Given the description of an element on the screen output the (x, y) to click on. 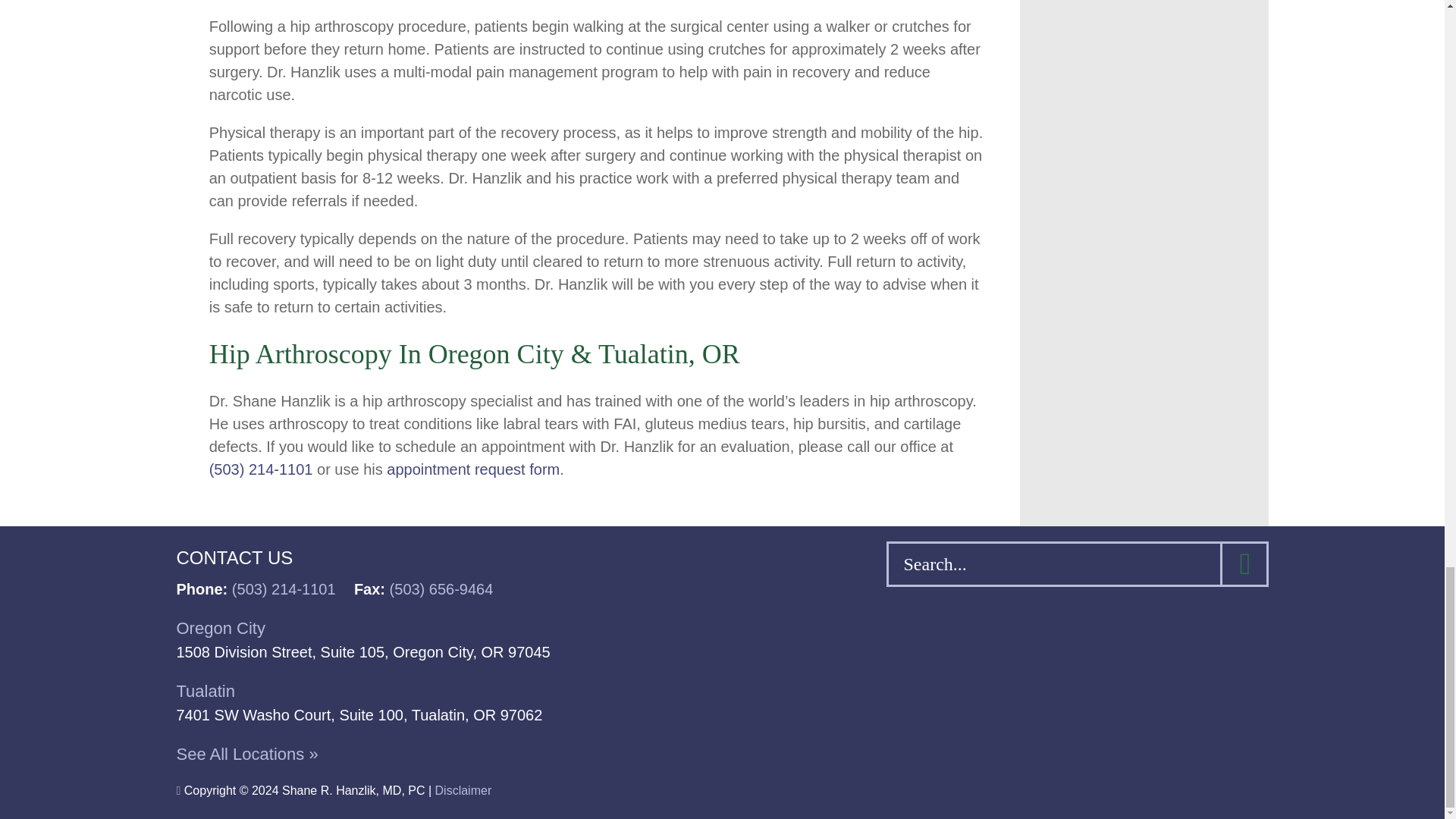
appointment request form (473, 469)
Tualatin (205, 691)
Oregon City (220, 628)
